Given the description of an element on the screen output the (x, y) to click on. 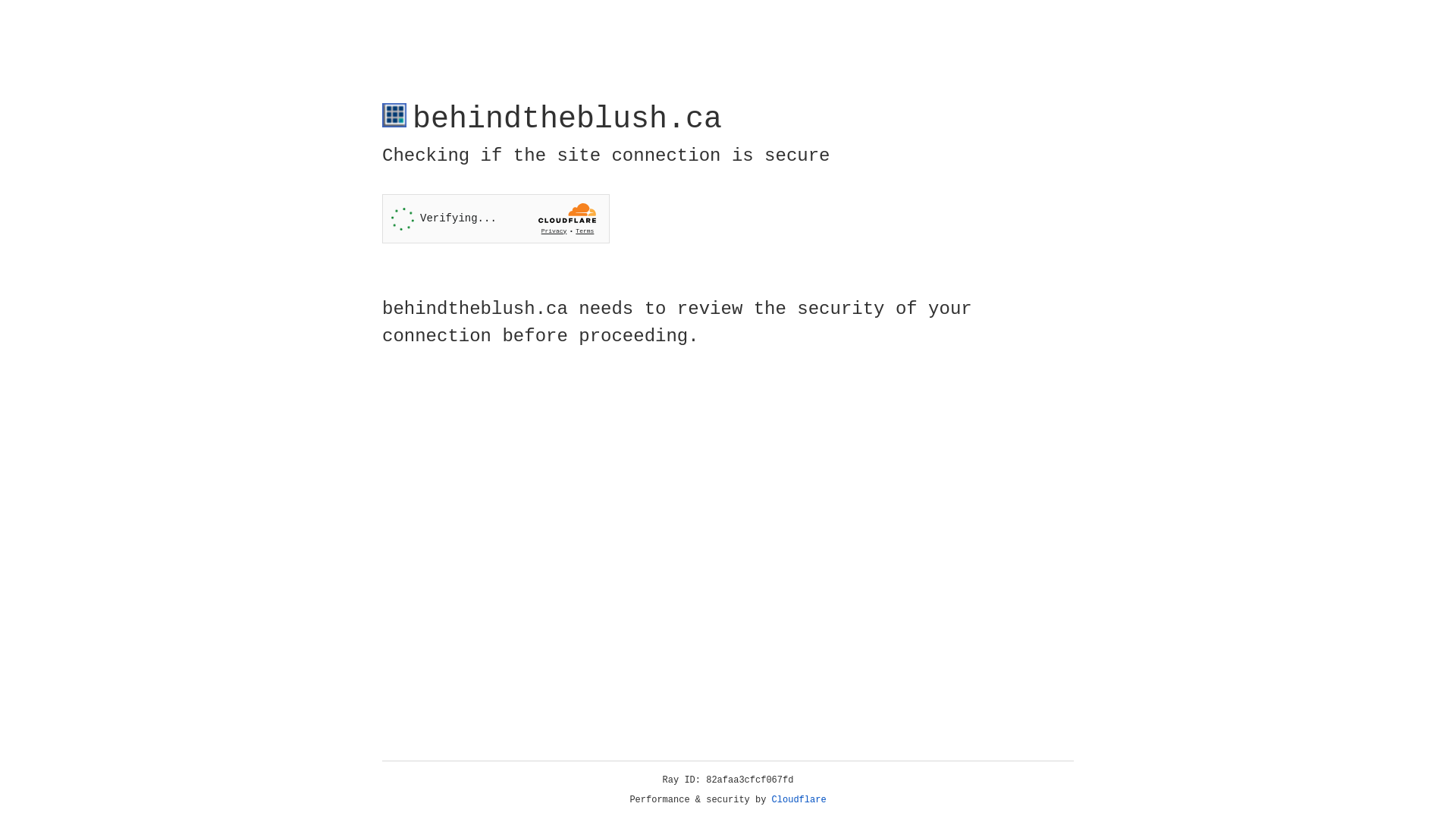
Widget containing a Cloudflare security challenge Element type: hover (495, 218)
Cloudflare Element type: text (798, 799)
